Given the description of an element on the screen output the (x, y) to click on. 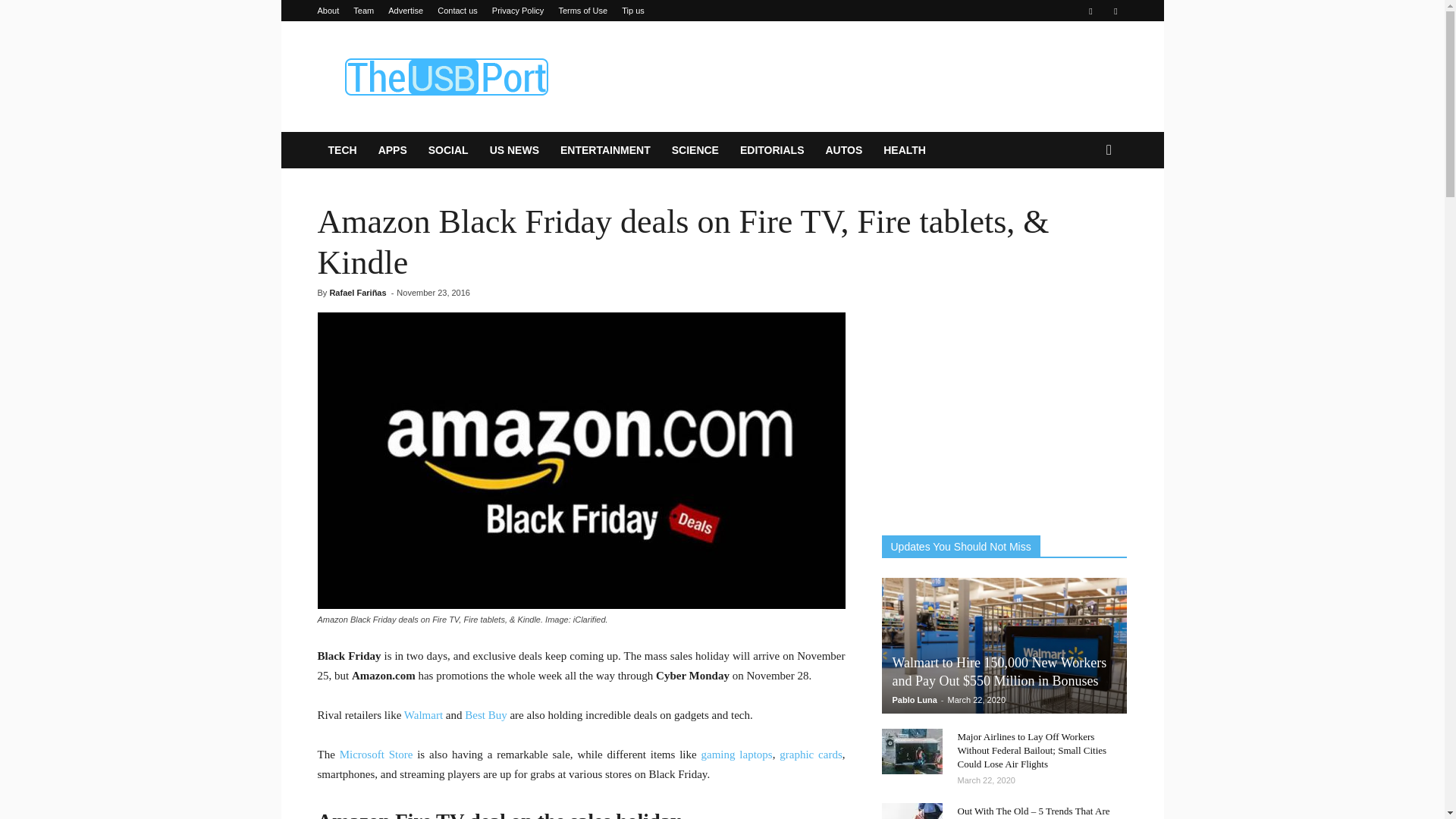
Twitter (1114, 10)
Contact us (457, 10)
About (328, 10)
APPS (392, 149)
US NEWS (514, 149)
Advertisement (850, 76)
AUTOS (842, 149)
TECH (341, 149)
ENTERTAINMENT (605, 149)
